Given the description of an element on the screen output the (x, y) to click on. 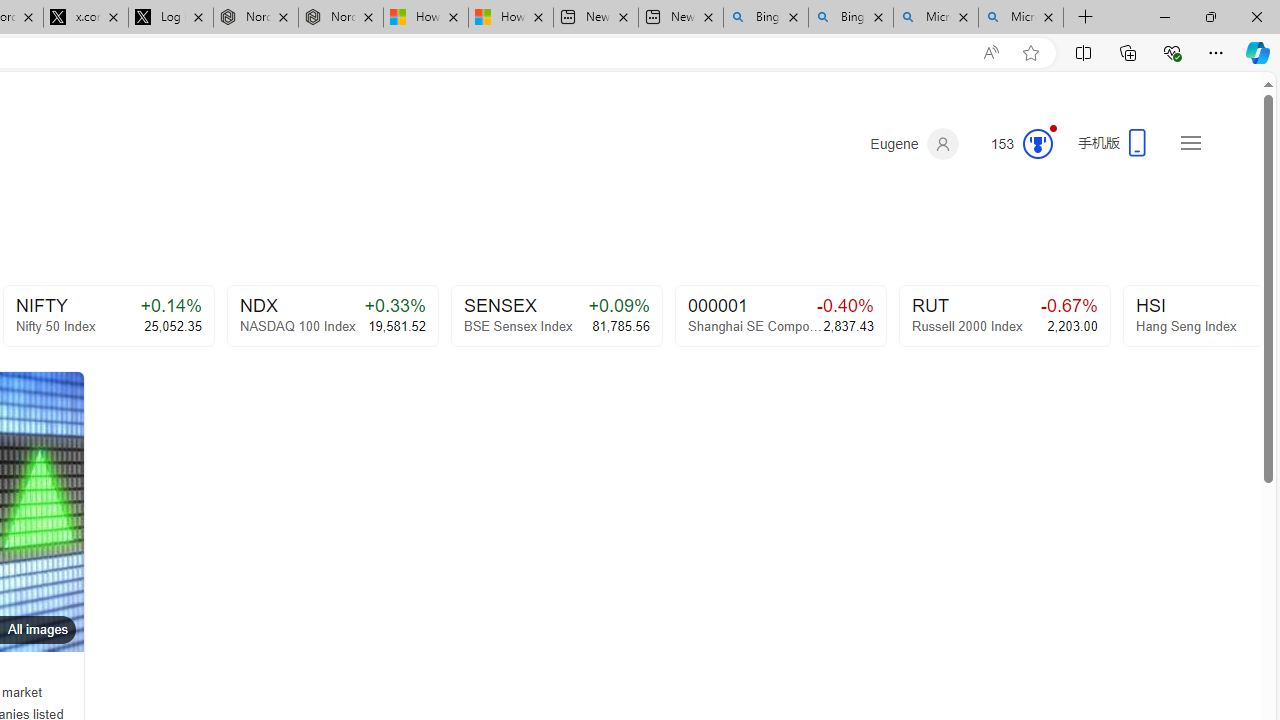
Settings and quick links (1190, 142)
How to Use a Monitor With Your Closed Laptop (510, 17)
Log in to X / X (170, 17)
NDX +0.33% NASDAQ 100 Index 19,581.52 (332, 315)
Bing AI - Search (851, 17)
